Given the description of an element on the screen output the (x, y) to click on. 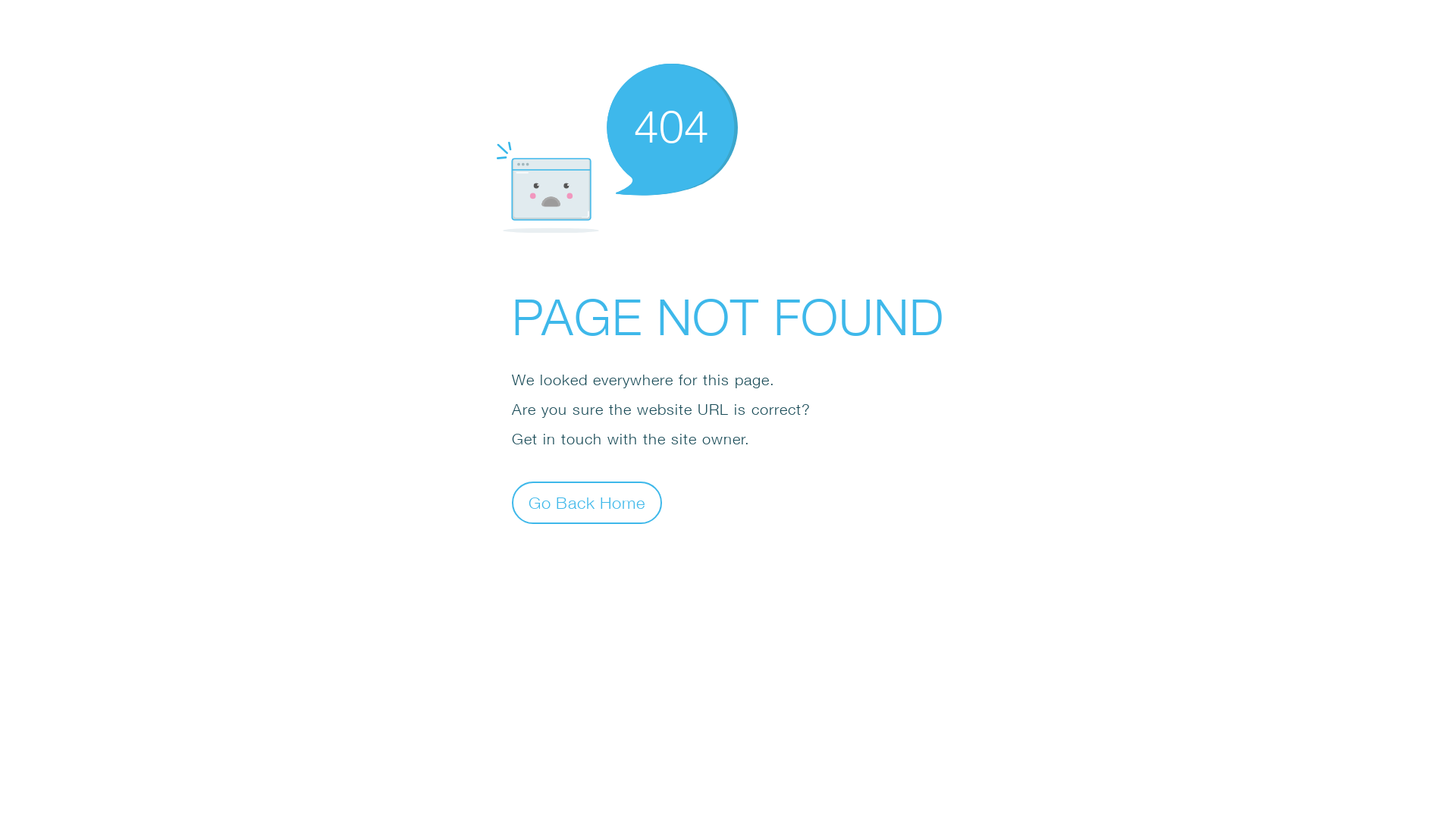
Go Back Home Element type: text (586, 502)
